Given the description of an element on the screen output the (x, y) to click on. 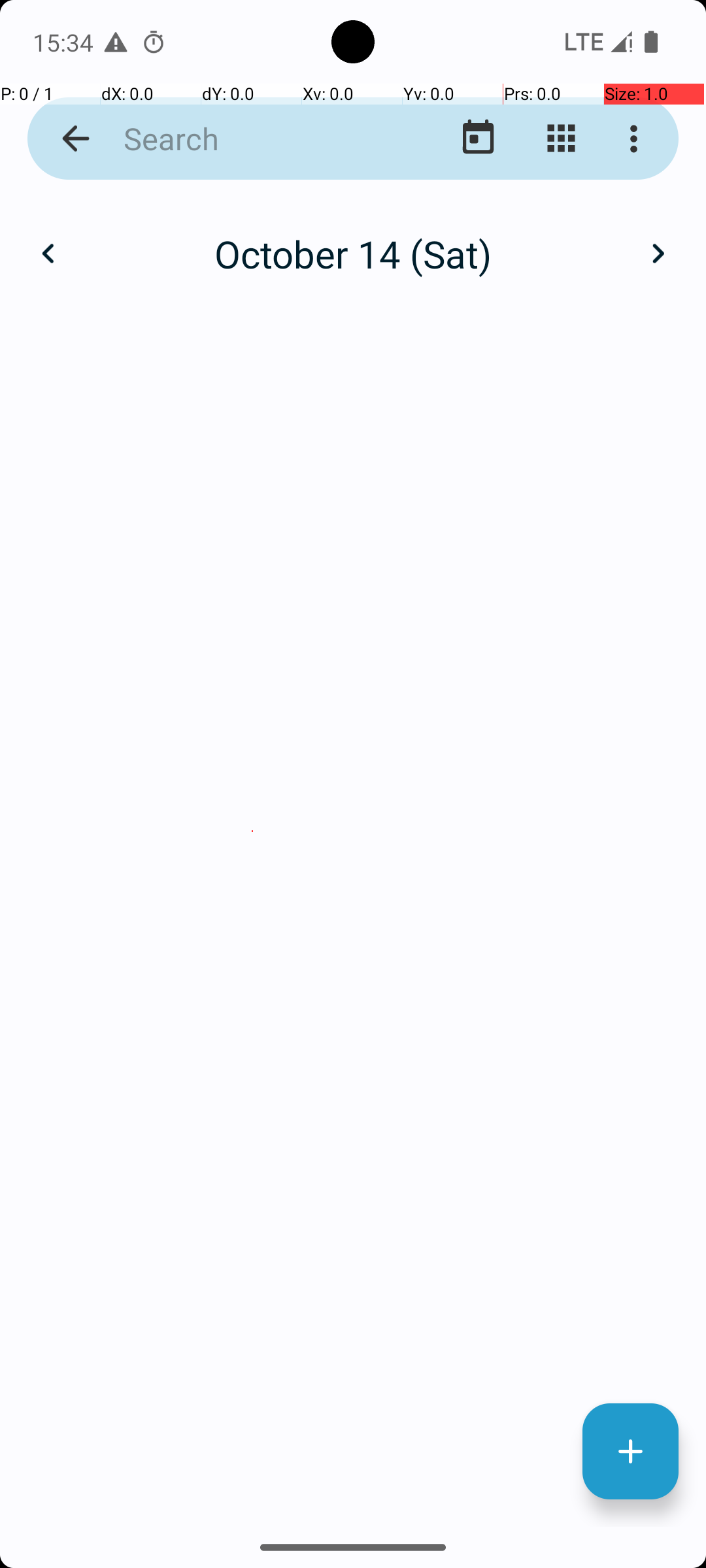
October 14 (Sat) Element type: android.widget.TextView (352, 253)
